Given the description of an element on the screen output the (x, y) to click on. 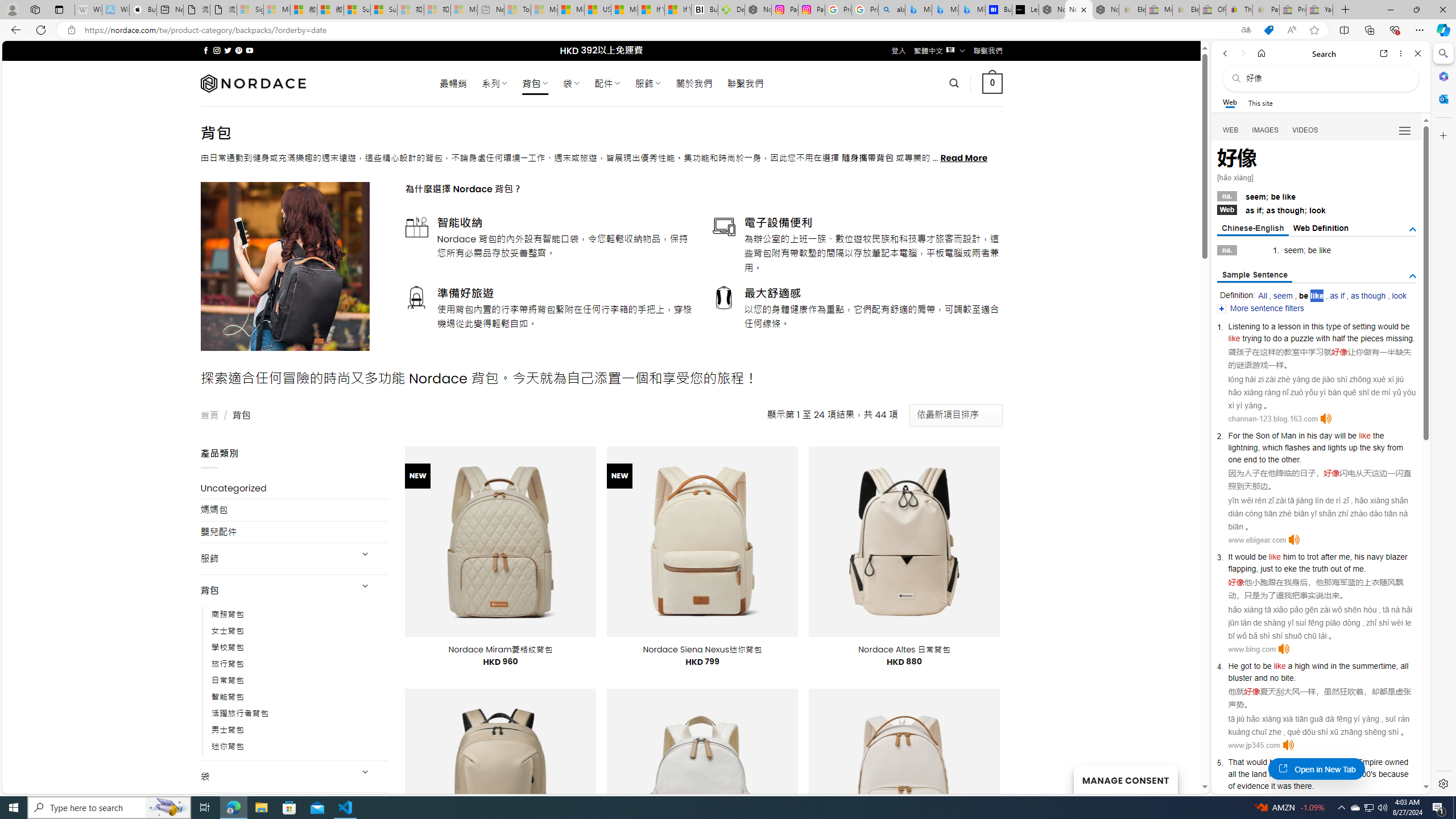
MANAGE CONSENT (1125, 779)
Web Definition (1321, 227)
